Given the description of an element on the screen output the (x, y) to click on. 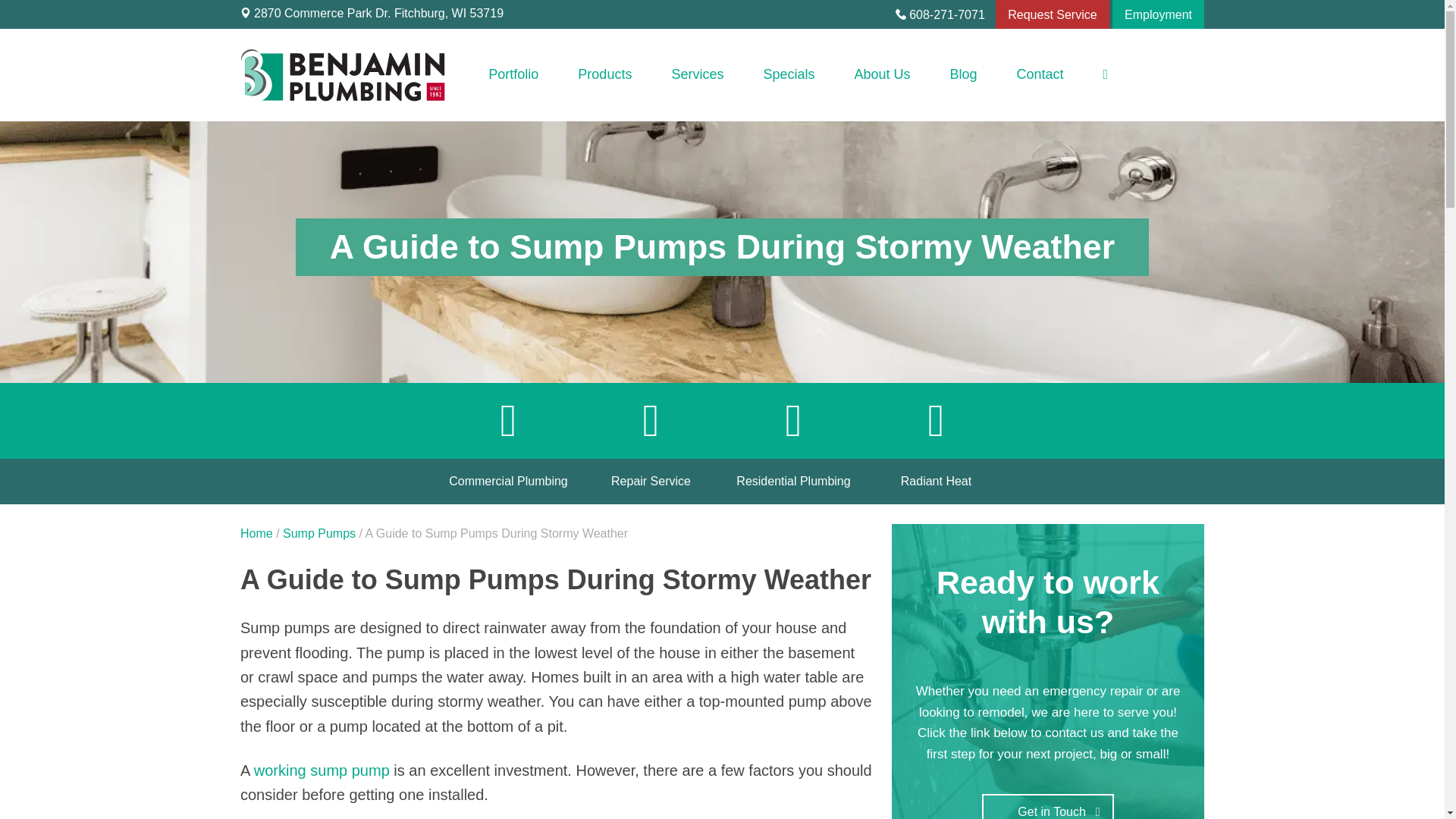
Request Service (1051, 15)
About Us (882, 75)
Services (696, 75)
2870 Commerce Park Dr. Fitchburg, WI 53719 (375, 13)
Specials (788, 75)
Benjamin Plumbing (268, 122)
Portfolio (512, 75)
608-271-7071 (943, 14)
Products (603, 75)
Employment (1158, 15)
